Given the description of an element on the screen output the (x, y) to click on. 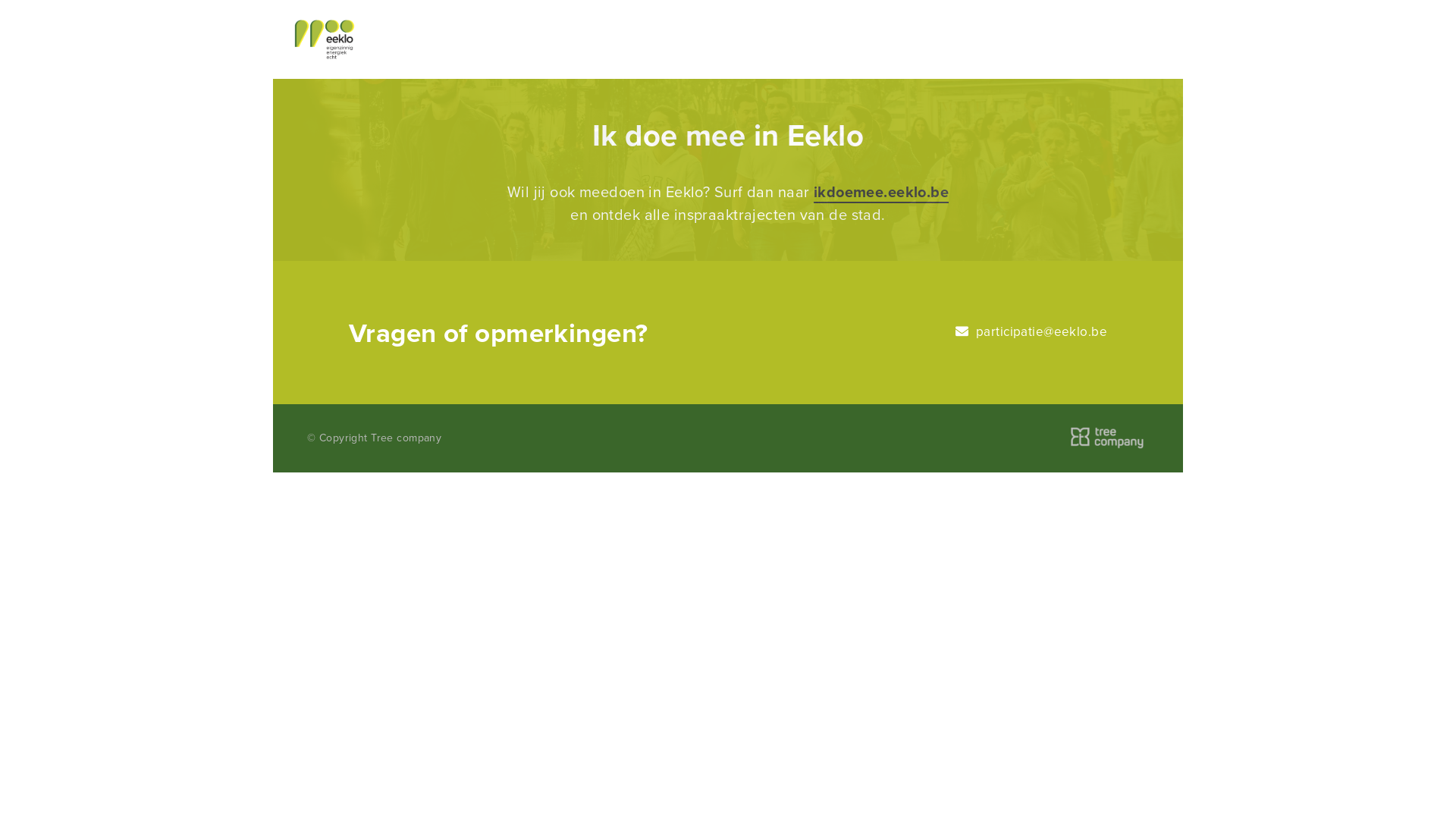
participatie@eeklo.be Element type: text (1031, 331)
ikdoemee.eeklo.be Element type: text (880, 193)
